Given the description of an element on the screen output the (x, y) to click on. 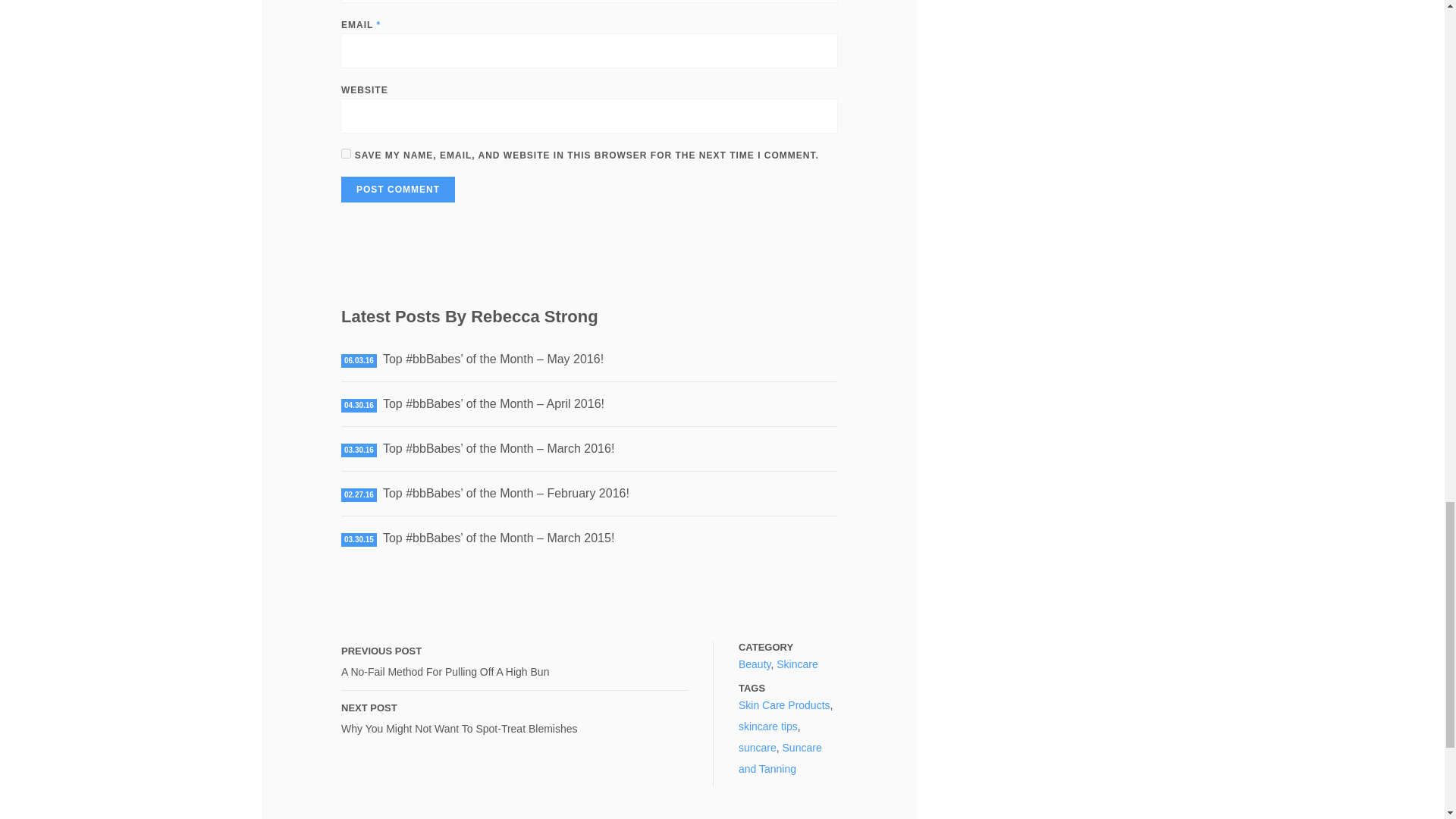
Post Comment (397, 189)
yes (345, 153)
